Given the description of an element on the screen output the (x, y) to click on. 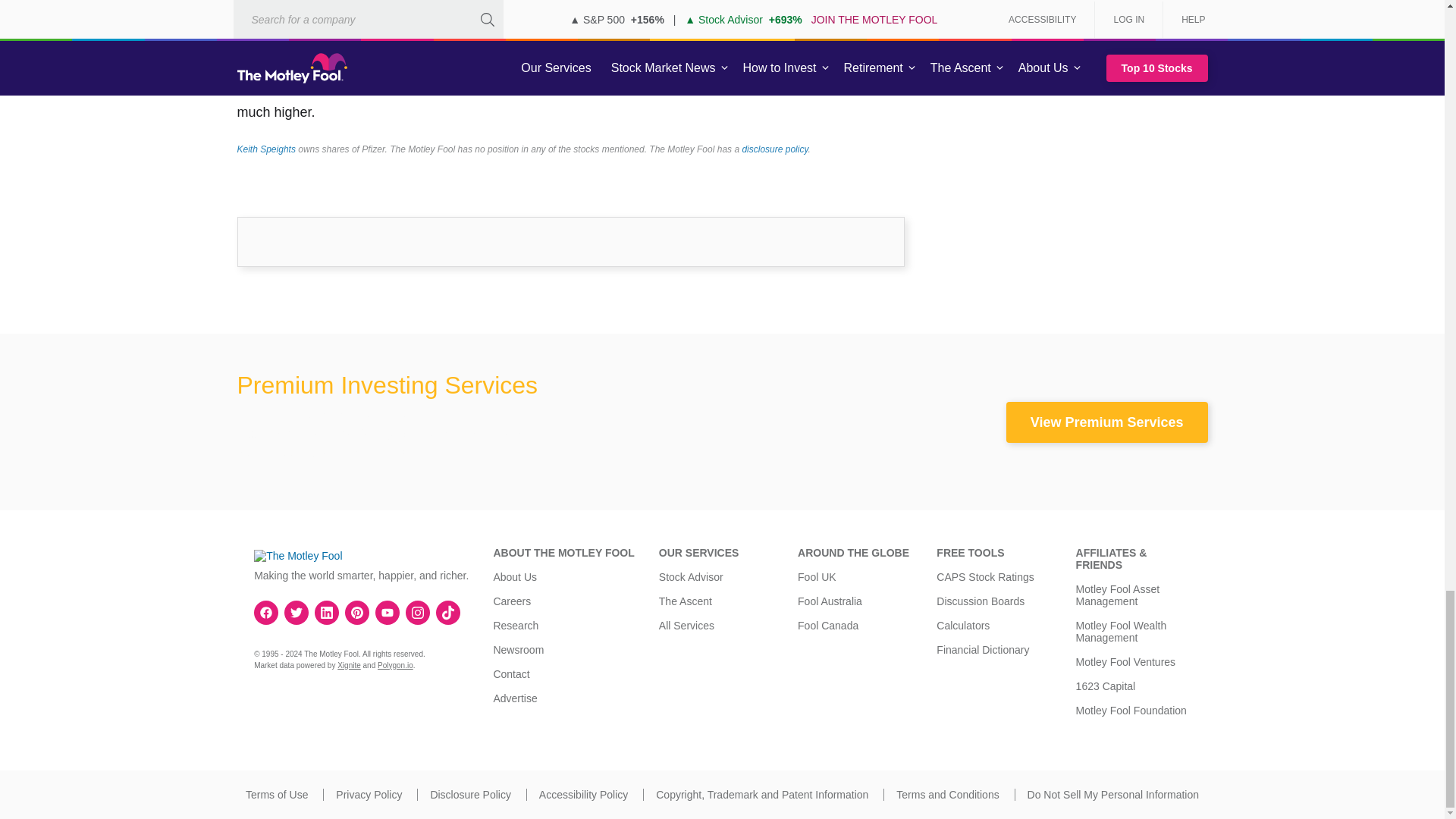
Privacy Policy (368, 794)
Copyright, Trademark and Patent Information (761, 794)
Disclosure Policy (470, 794)
Accessibility Policy (582, 794)
Terms and Conditions (947, 794)
Do Not Sell My Personal Information. (1112, 794)
Terms of Use (276, 794)
